Given the description of an element on the screen output the (x, y) to click on. 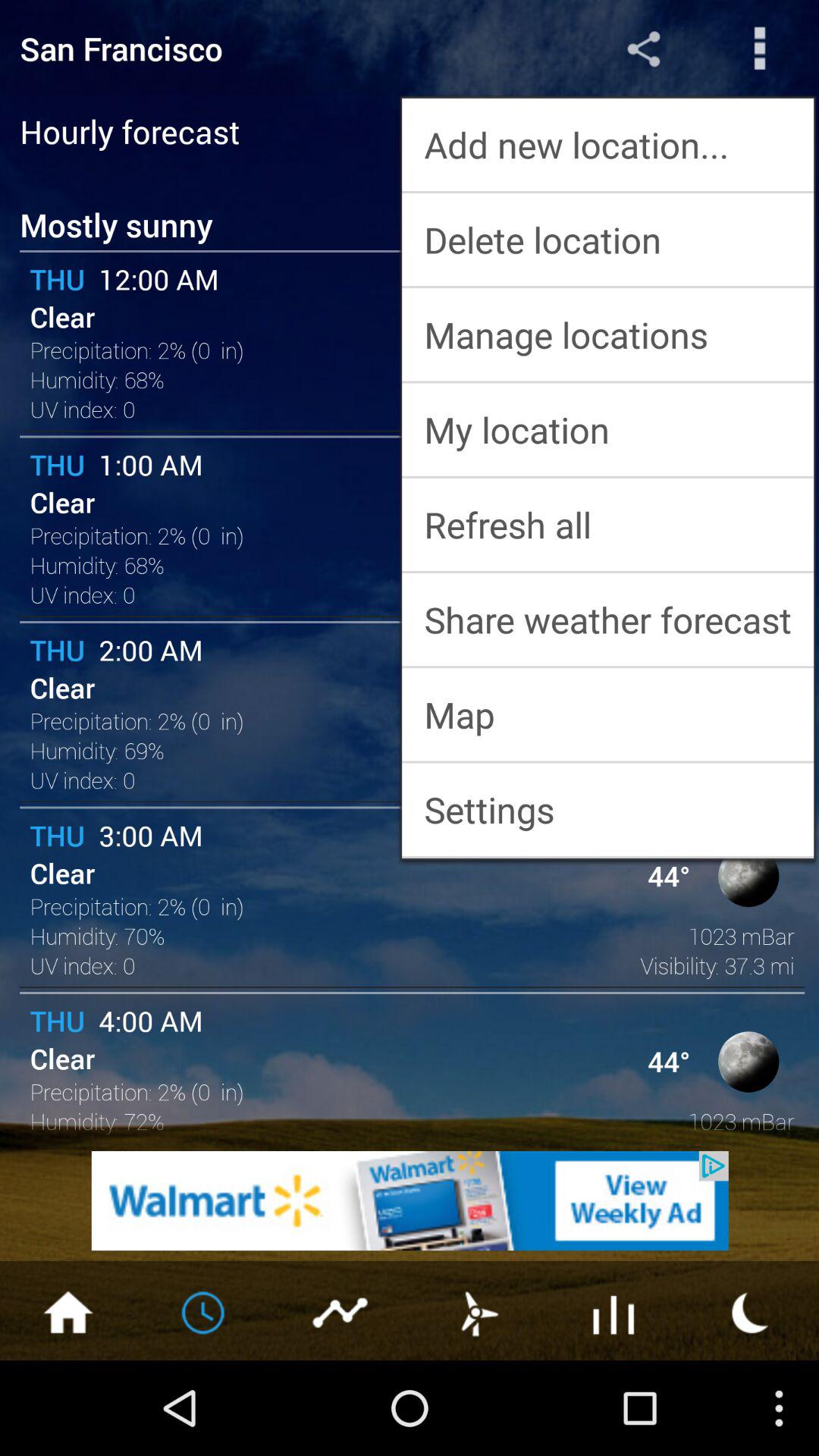
turn off map icon (607, 714)
